Given the description of an element on the screen output the (x, y) to click on. 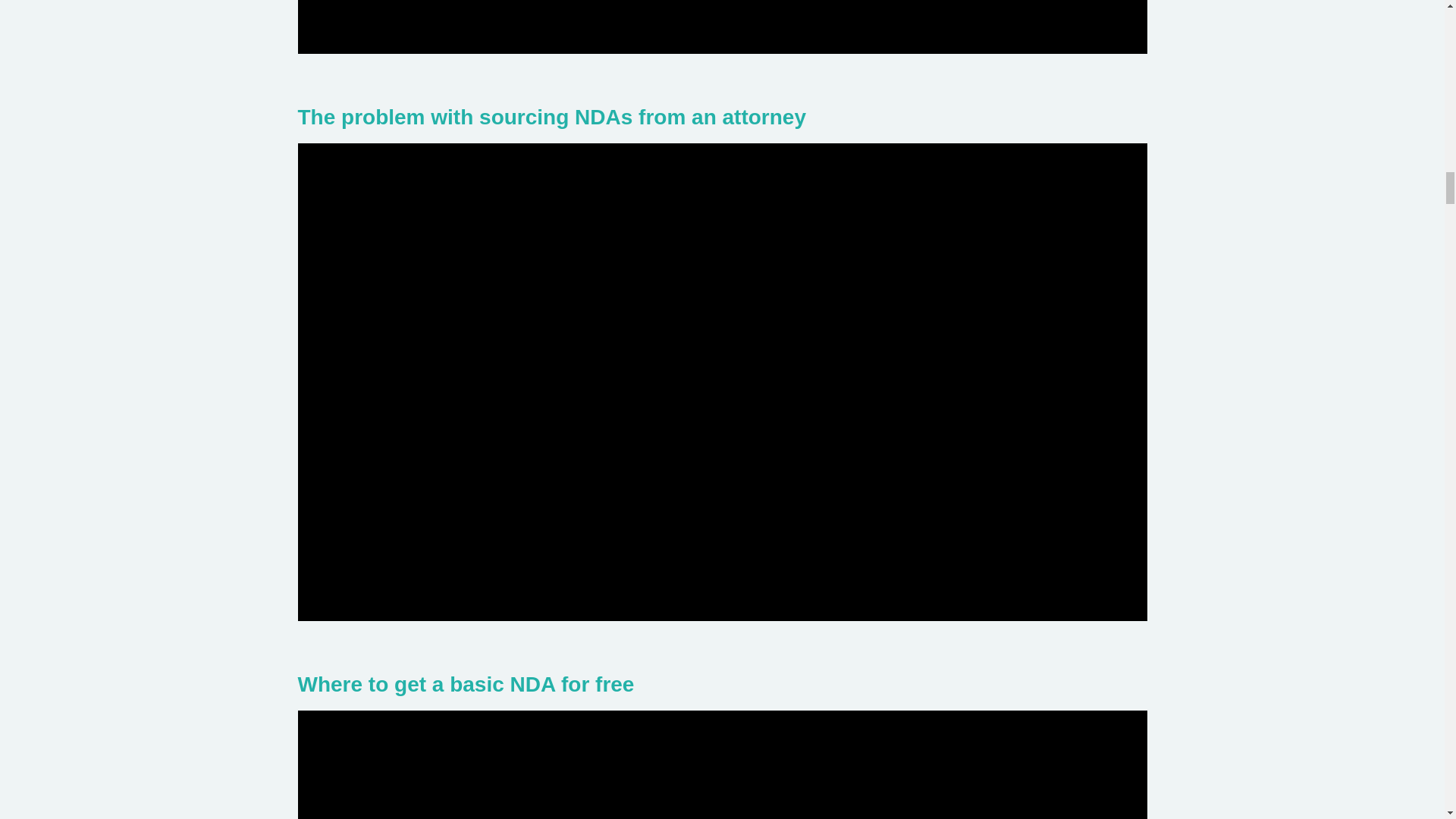
vimeo Video Player (722, 27)
vimeo Video Player (722, 764)
